Given the description of an element on the screen output the (x, y) to click on. 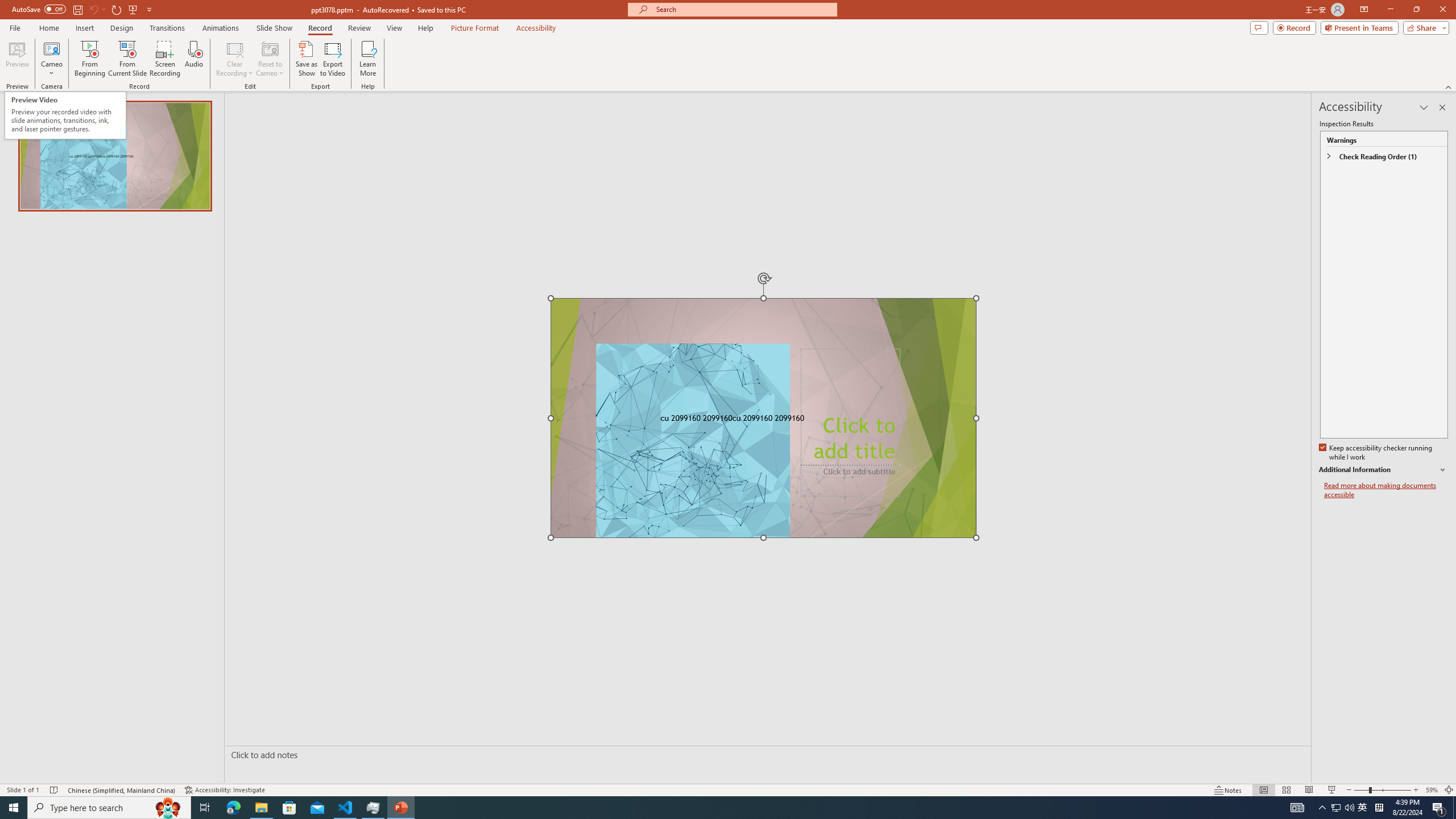
Reset to Cameo (269, 58)
From Current Slide... (127, 58)
Additional Information (1383, 469)
